Given the description of an element on the screen output the (x, y) to click on. 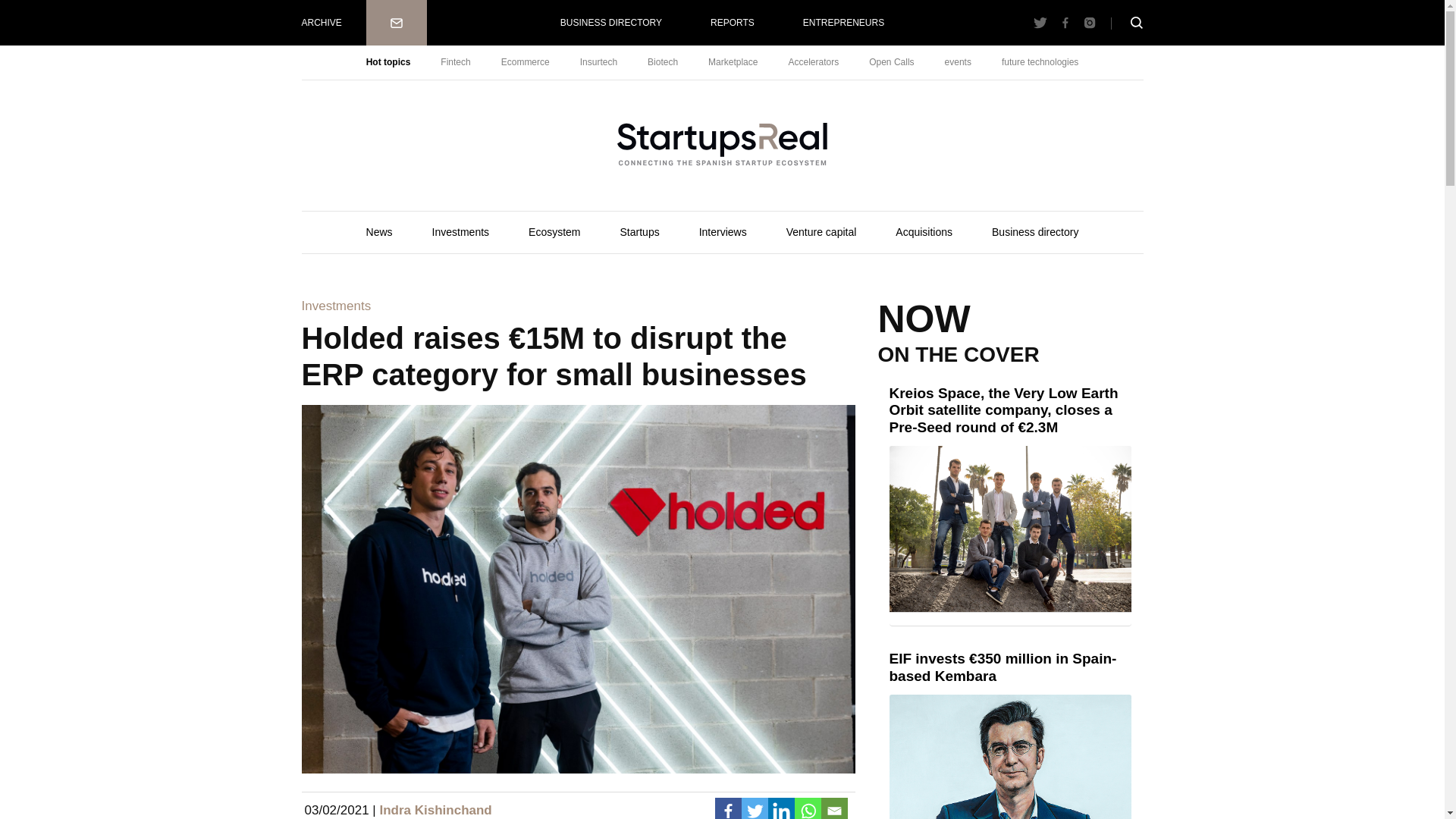
Linkedin (780, 808)
Email (834, 808)
ENTREPRENEURS (843, 22)
Facebook (727, 808)
REPORTS (731, 22)
Newsletter (396, 22)
BUSINESS DIRECTORY (610, 22)
Twitter (754, 808)
Whatsapp (807, 808)
